Given the description of an element on the screen output the (x, y) to click on. 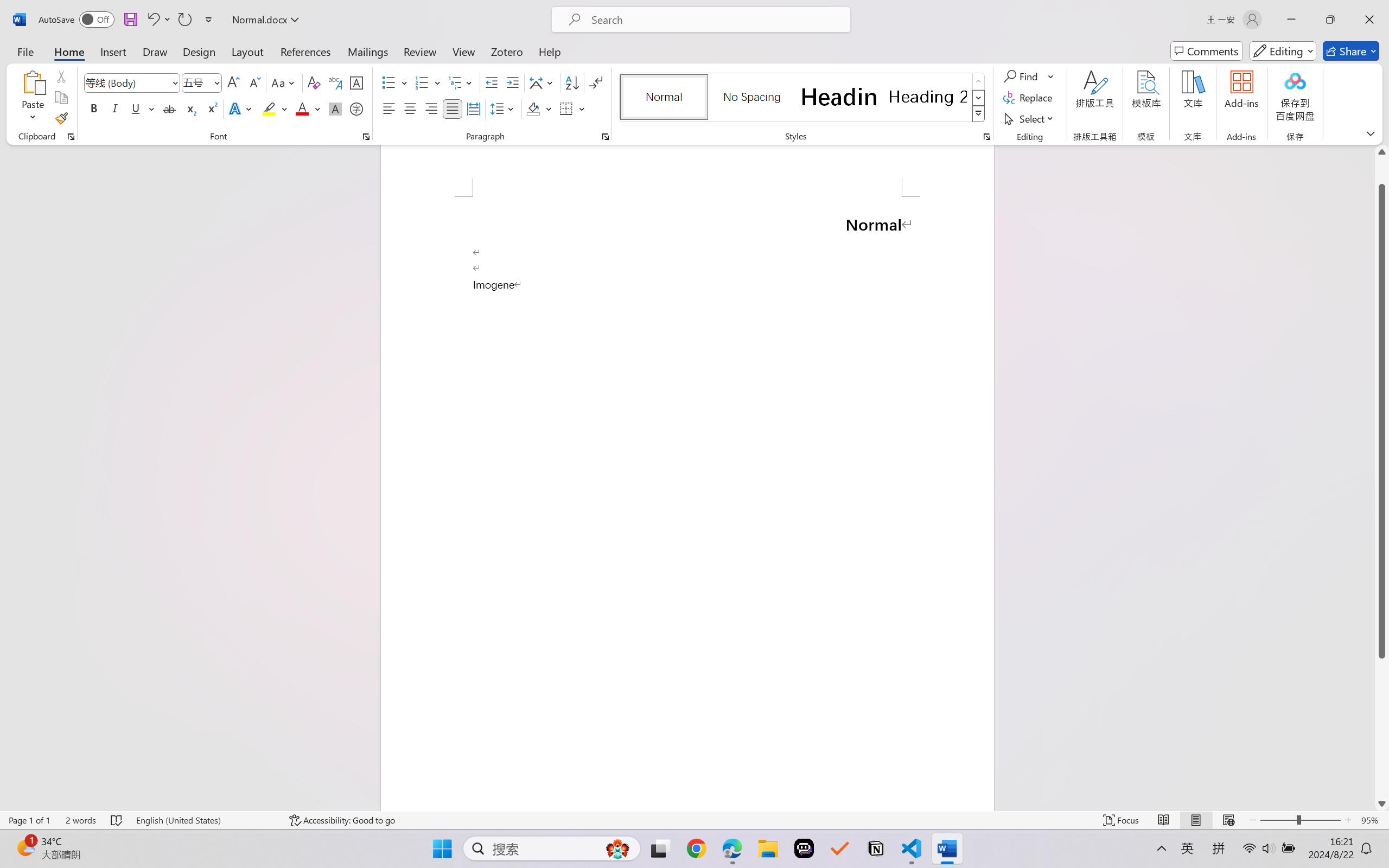
Font Color RGB(255, 0, 0) (302, 108)
Sort... (571, 82)
Undo Style (158, 19)
Select (1030, 118)
Page Number Page 1 of 1 (29, 819)
Decrease Indent (491, 82)
Font... (365, 136)
Format Painter (60, 118)
Styles... (986, 136)
Office Clipboard... (70, 136)
